Given the description of an element on the screen output the (x, y) to click on. 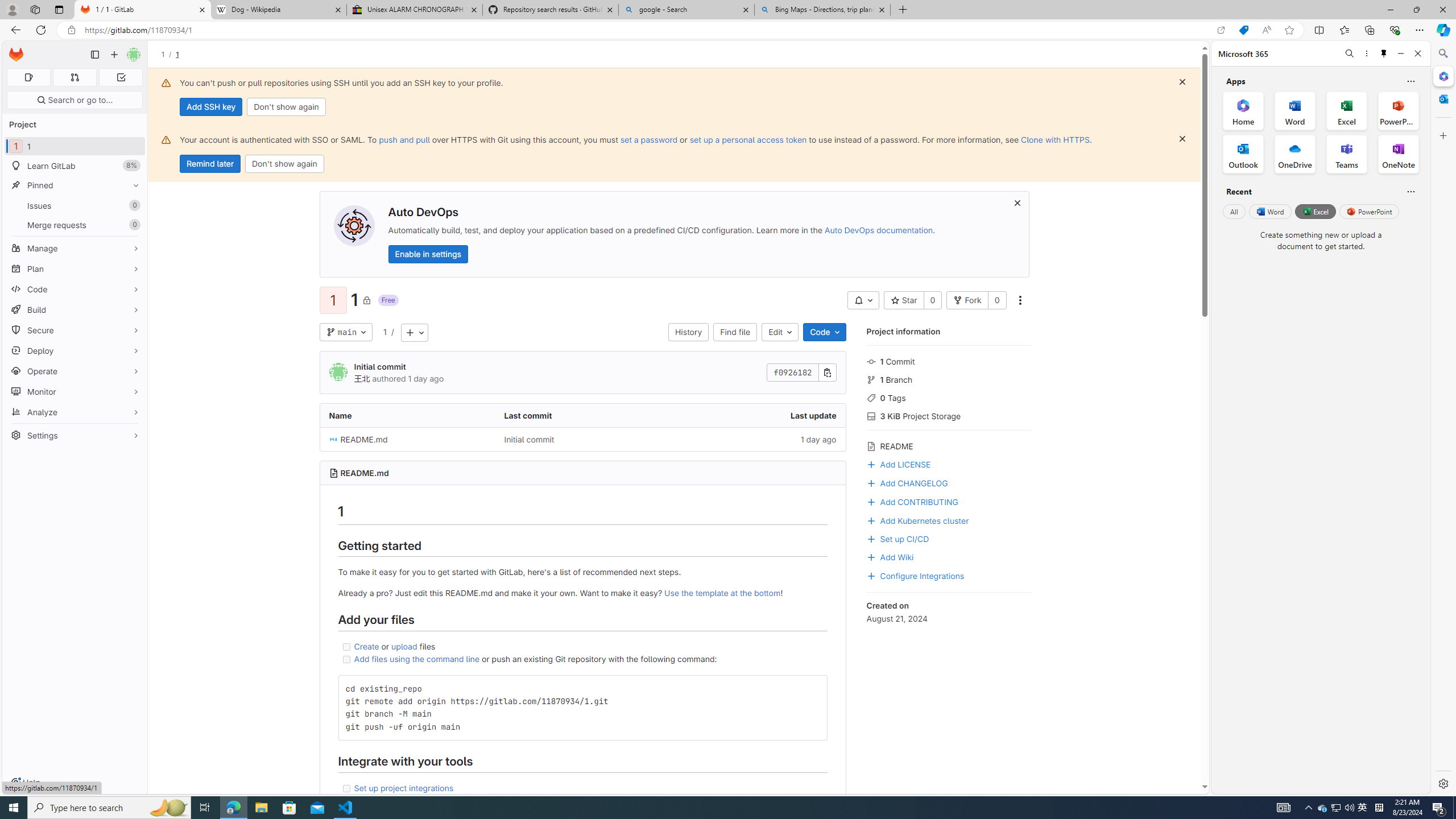
Code (824, 331)
Class: s16 gl-icon gl-button-icon  (1016, 202)
3 KiB Project Storage (948, 415)
Last commit (583, 415)
README.md (407, 439)
1 Branch (948, 378)
Add CHANGELOG (906, 482)
1 (384, 331)
